Given the description of an element on the screen output the (x, y) to click on. 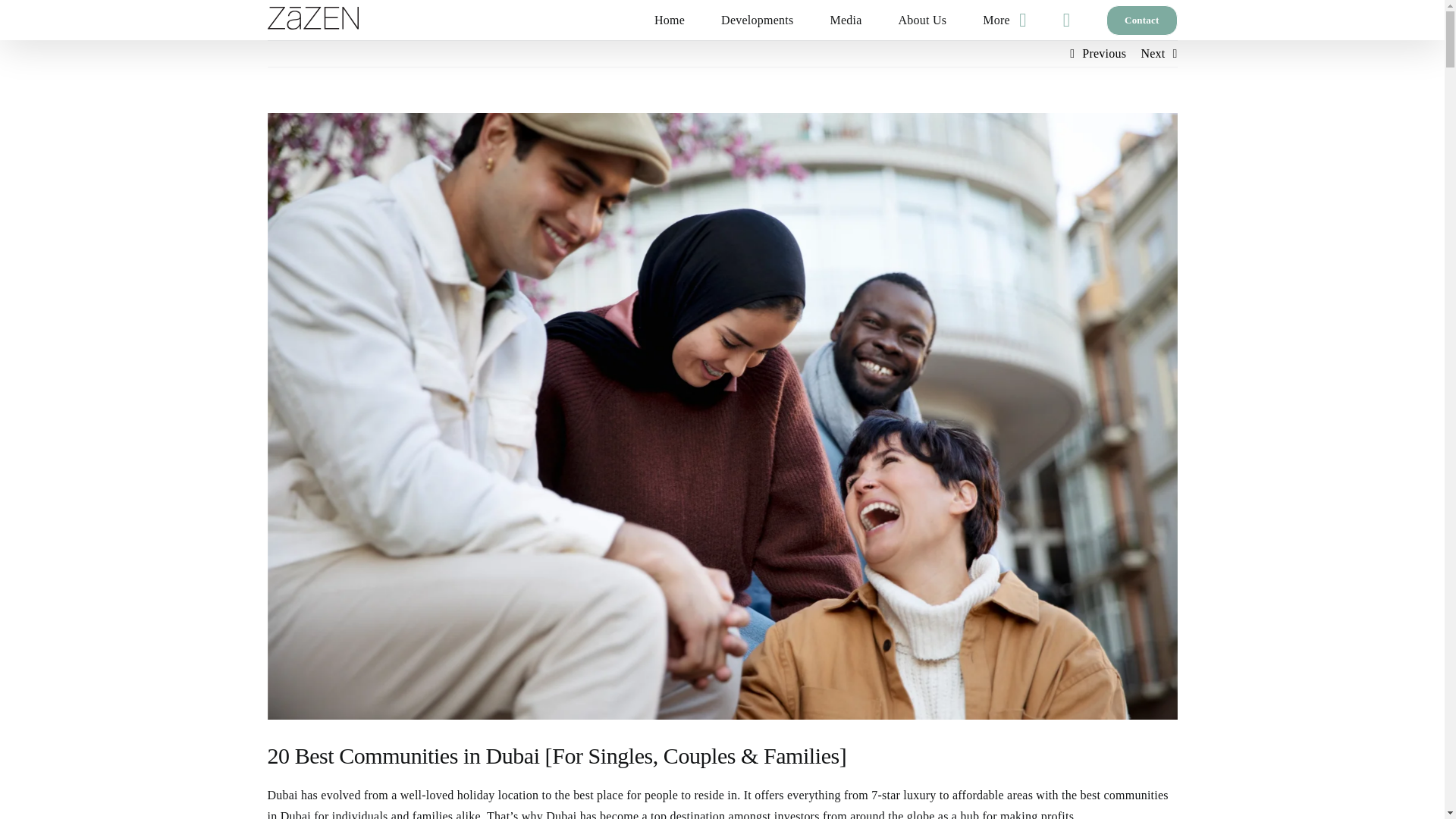
About Us (922, 20)
Contact (1141, 20)
More (1004, 20)
Developments (756, 20)
